Given the description of an element on the screen output the (x, y) to click on. 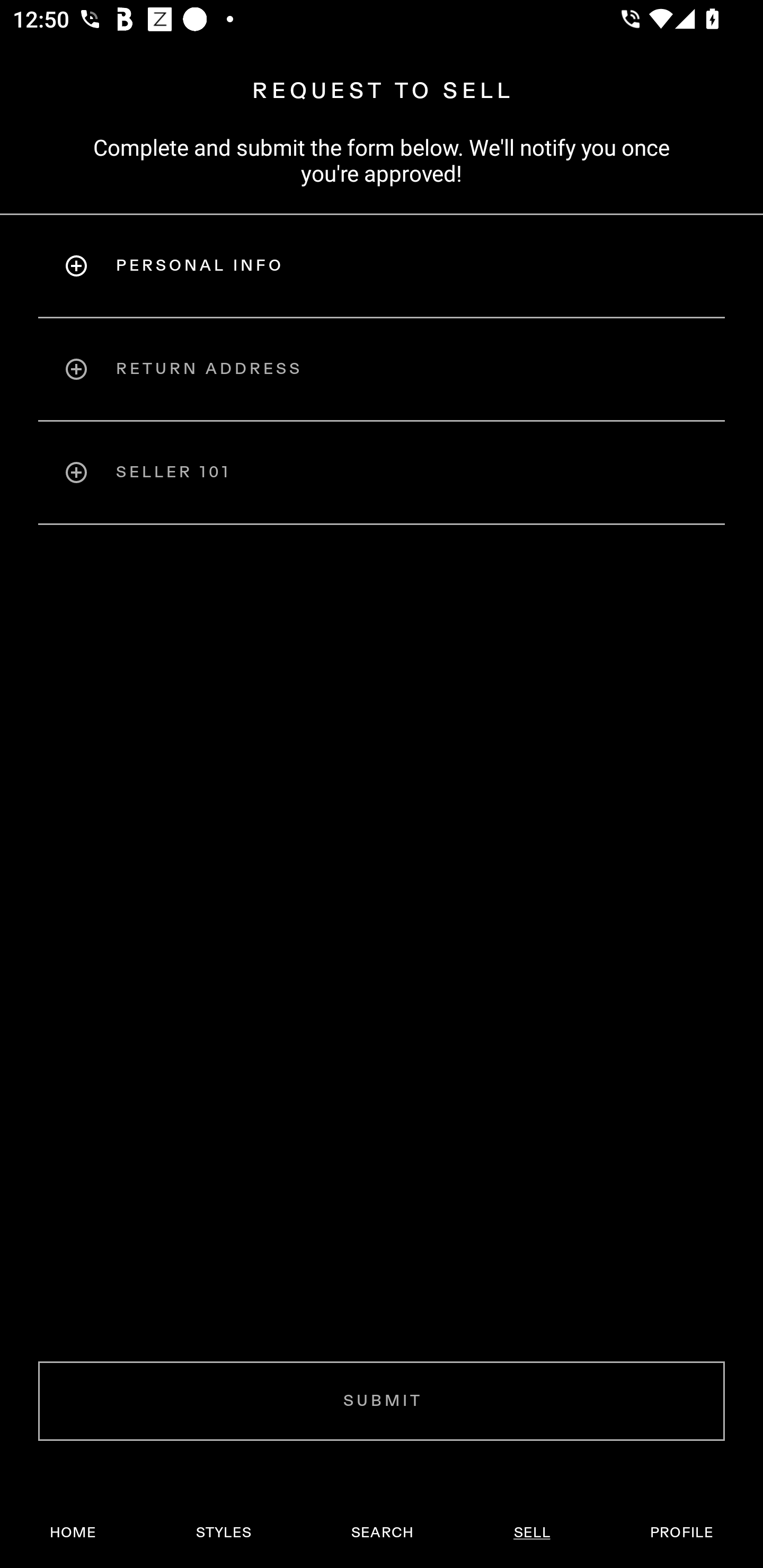
PERSONAL INFO (381, 265)
RETURN ADDRESS (381, 369)
SELLER 101 (381, 472)
SUBMIT (381, 1400)
HOME (72, 1532)
STYLES (222, 1532)
SEARCH (381, 1532)
SELL (531, 1532)
PROFILE (681, 1532)
